Given the description of an element on the screen output the (x, y) to click on. 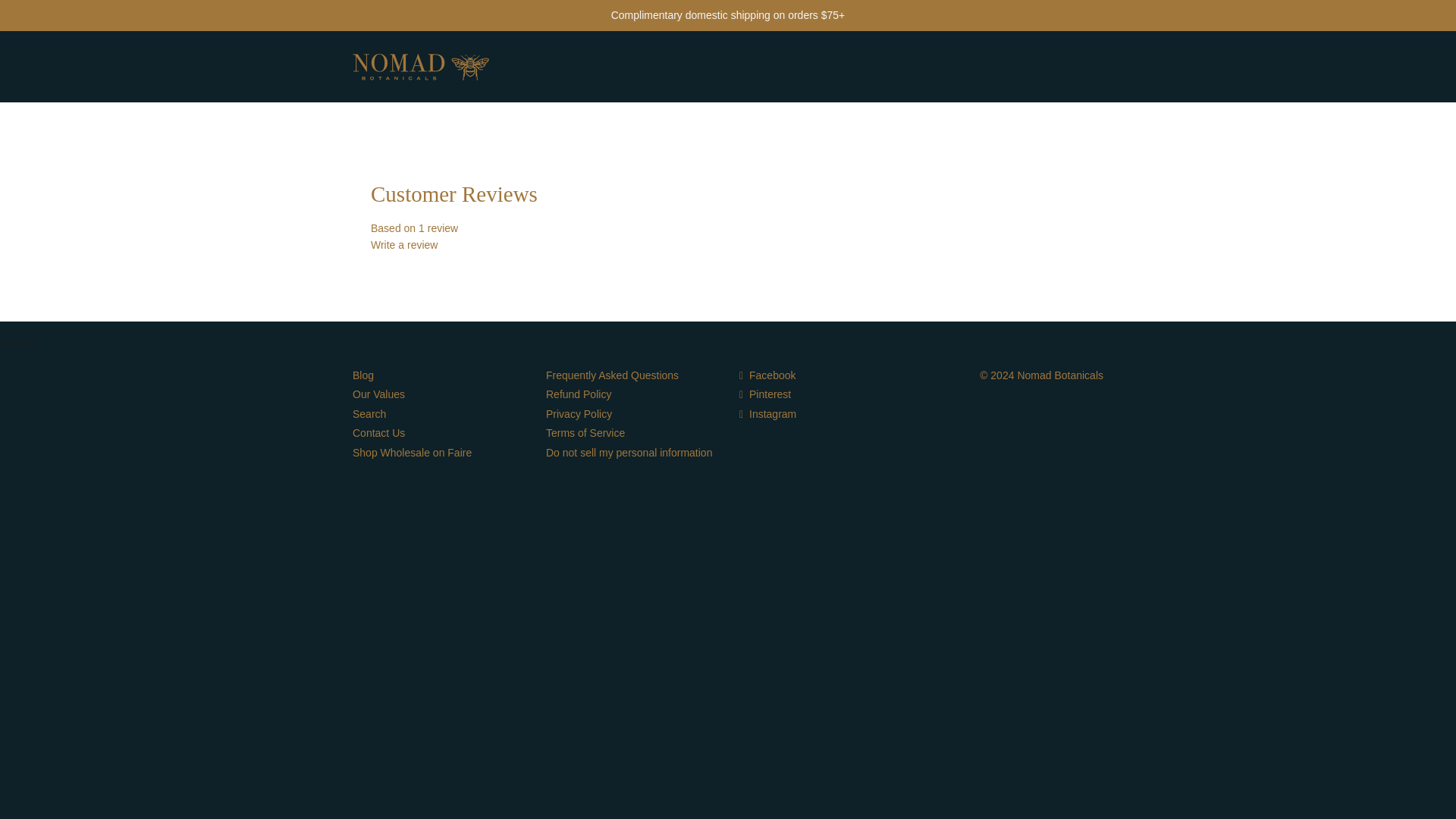
Nomad Botanicals on Facebook (767, 375)
Nomad Botanicals on Pinterest (764, 394)
Nomad Botanicals on Instagram (767, 413)
